Given the description of an element on the screen output the (x, y) to click on. 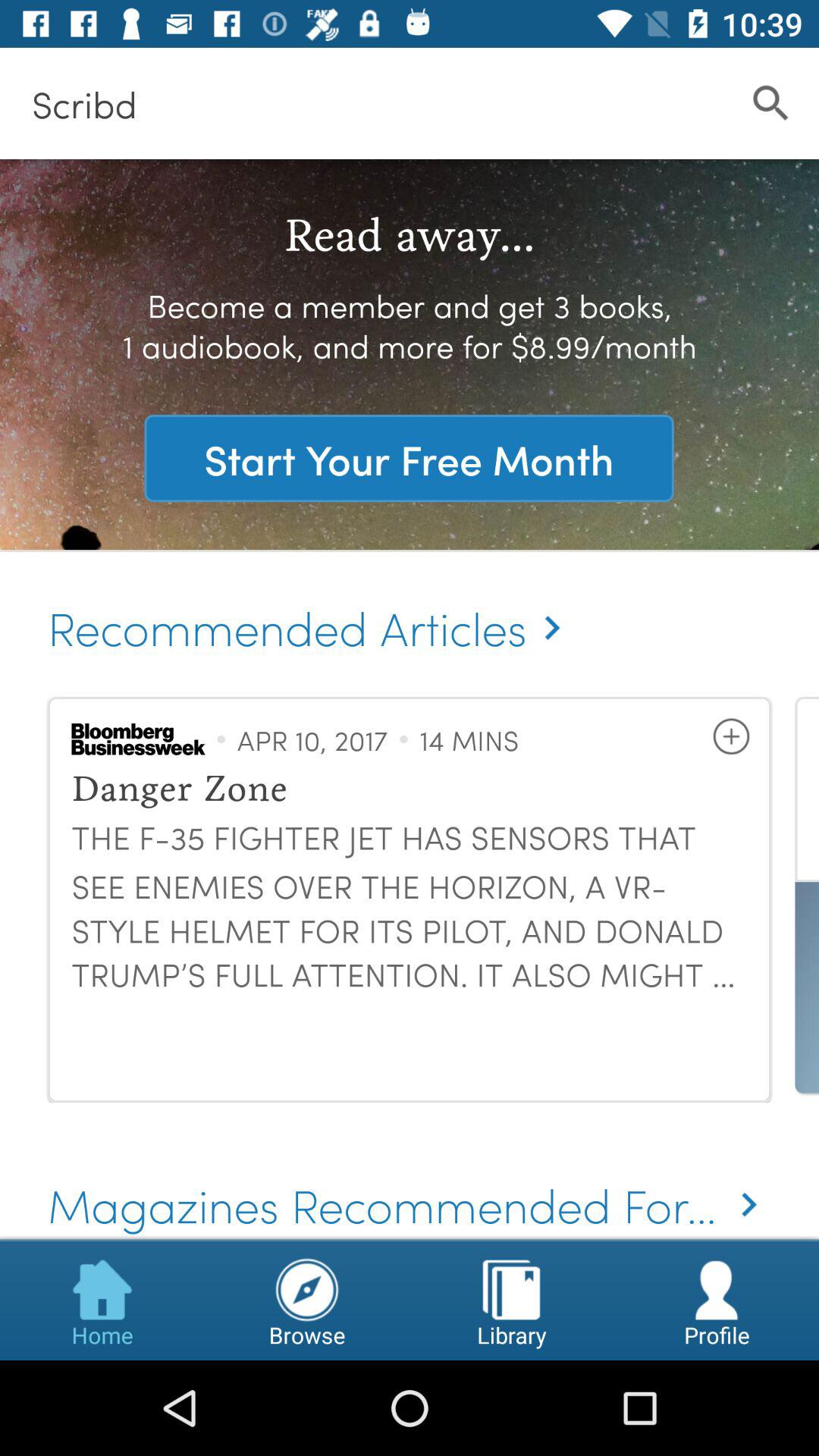
press the item above the the f 35 (731, 736)
